Given the description of an element on the screen output the (x, y) to click on. 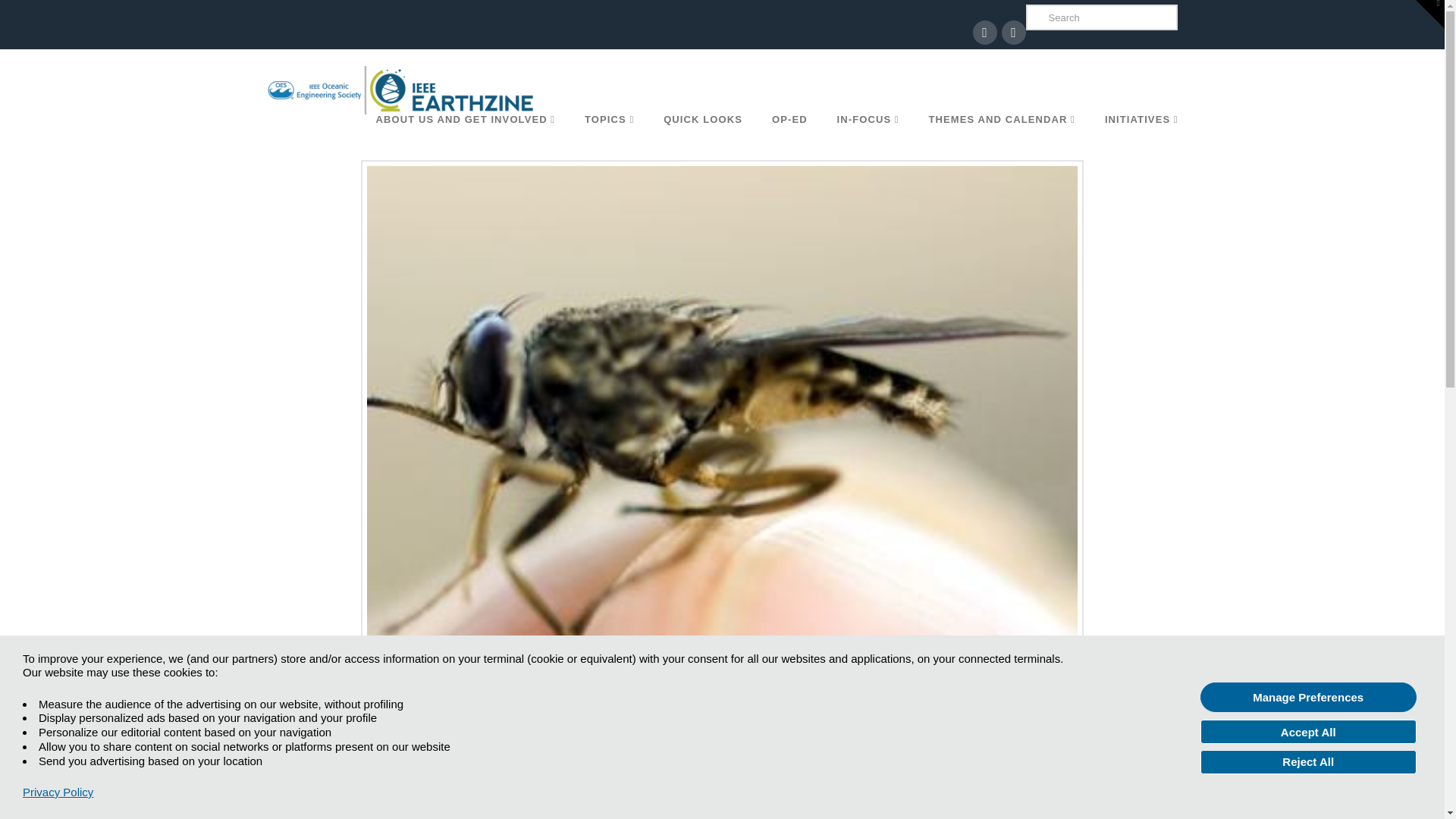
ABOUT US AND GET INVOLVED (464, 136)
IN-FOCUS (868, 136)
Manage Preferences (1307, 696)
Privacy Policy (58, 792)
QUICK LOOKS (702, 136)
Facebook (983, 32)
Reject All (1307, 761)
OP-ED (789, 136)
Accept All (1307, 731)
THEMES AND CALENDAR (1001, 136)
TOPICS (608, 136)
